Given the description of an element on the screen output the (x, y) to click on. 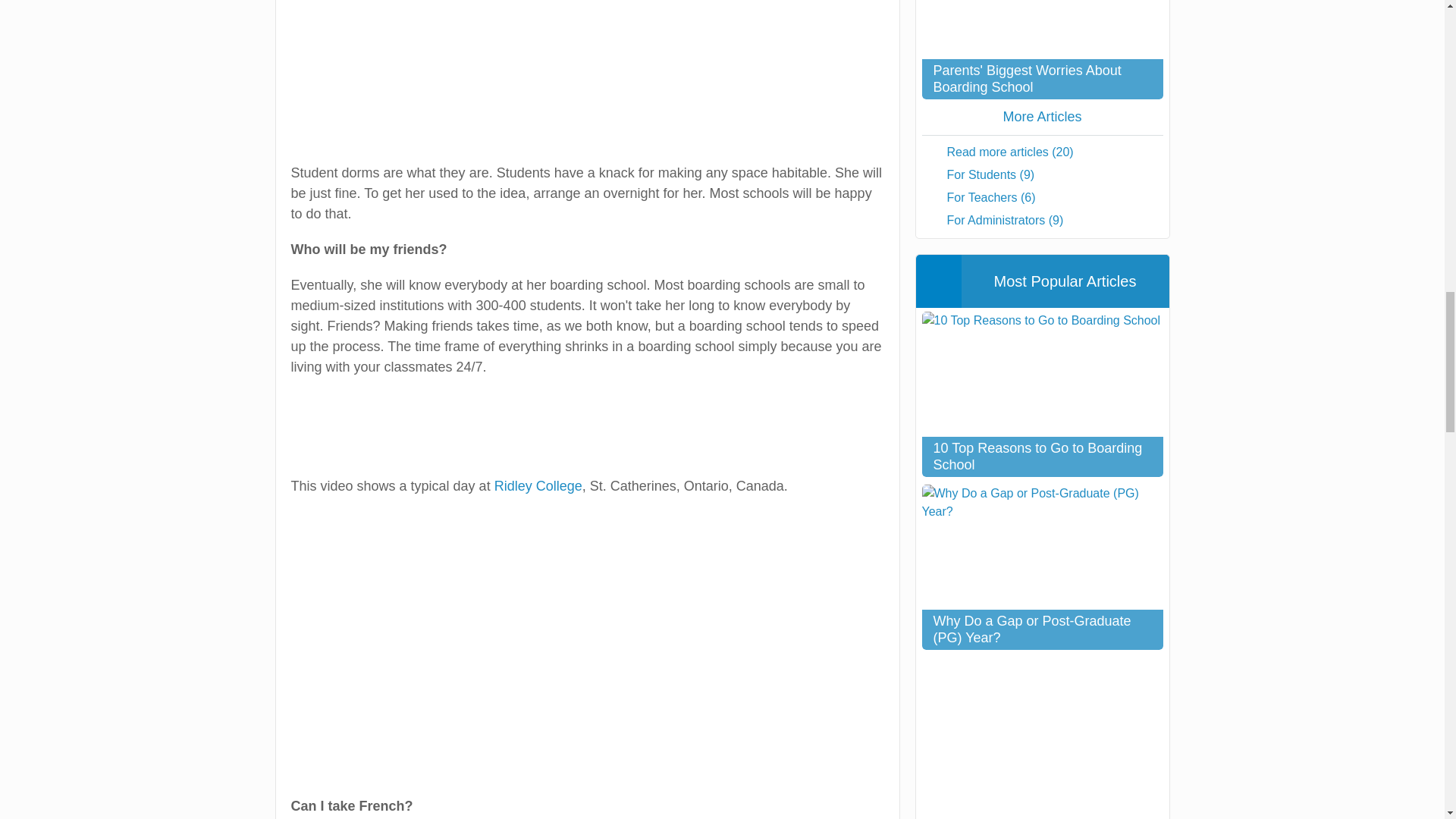
Parents' Biggest Worries About Boarding School (1042, 49)
Parents' Biggest Worries About Boarding School (1042, 49)
10 Top Reasons to Go to Boarding School (1042, 394)
Ridley College (538, 485)
